Given the description of an element on the screen output the (x, y) to click on. 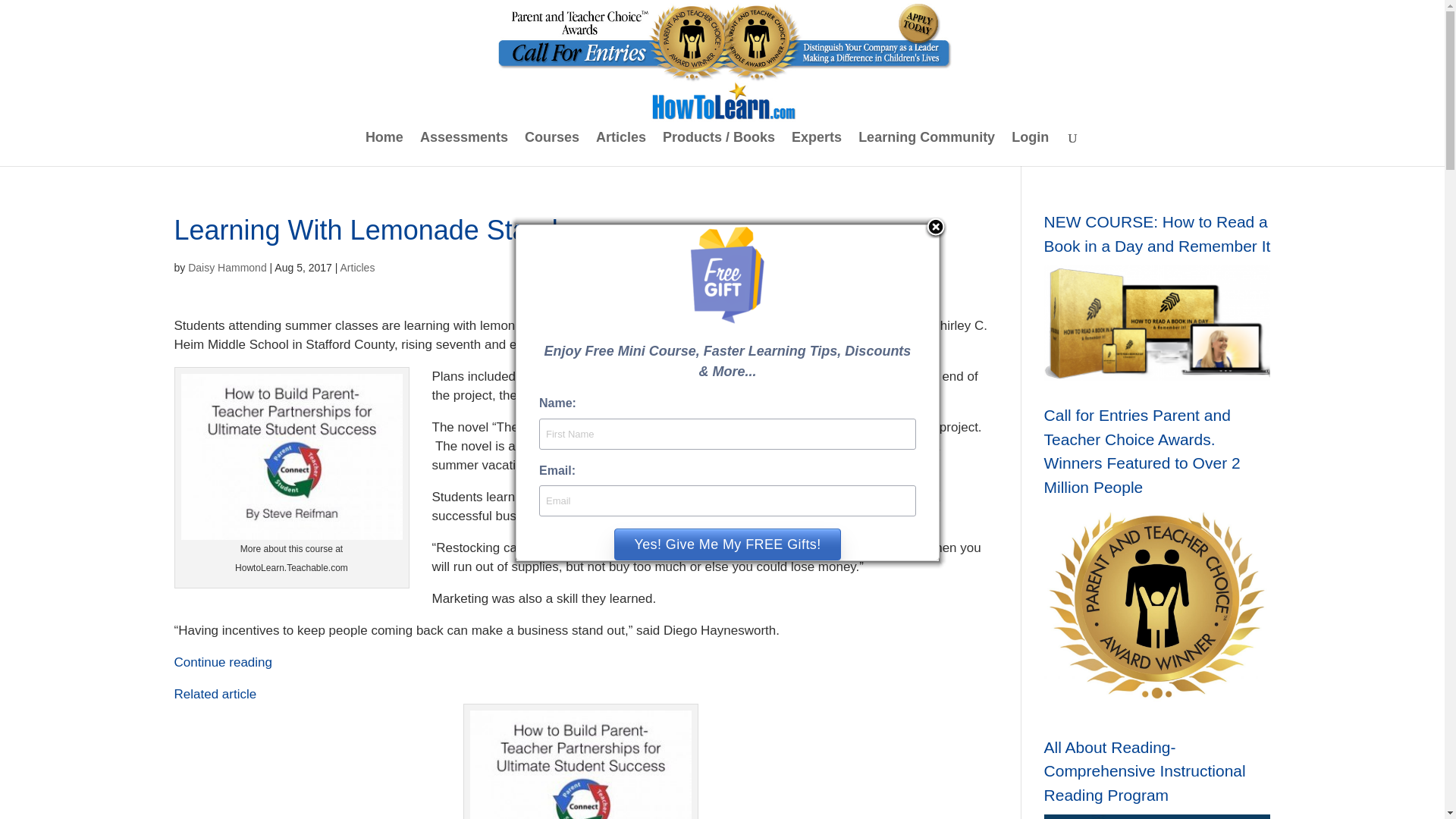
First Name (726, 433)
Home (384, 148)
Assessments (464, 148)
Experts (816, 148)
Articles (620, 148)
Courses (551, 148)
Learning Community (926, 148)
Daisy Hammond (226, 267)
Login (1029, 148)
Related article (215, 694)
Email (726, 500)
Articles (356, 267)
Continue reading (223, 662)
Posts by Daisy Hammond (226, 267)
Yes! Give Me My FREE Gifts! (727, 544)
